Given the description of an element on the screen output the (x, y) to click on. 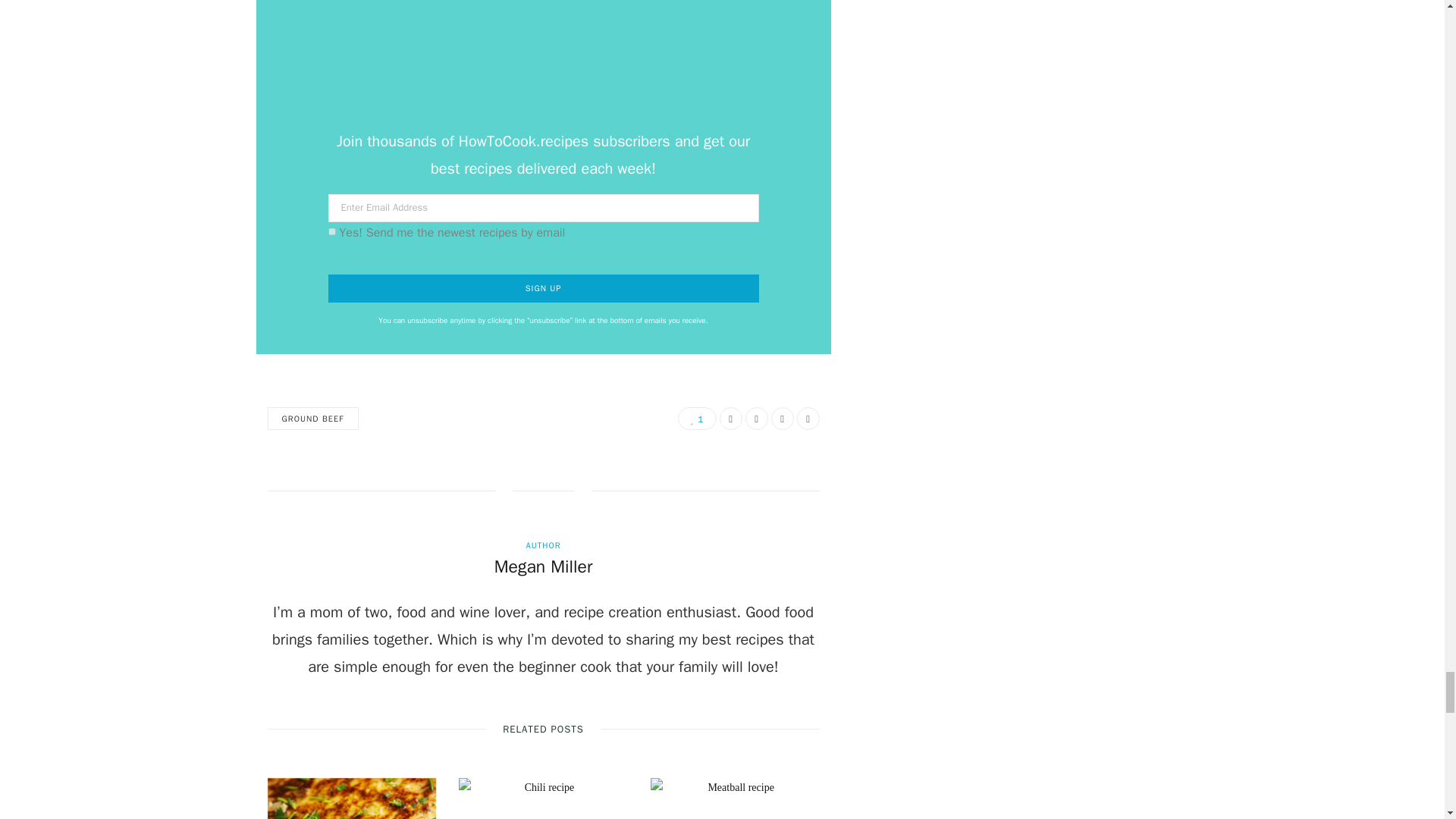
Pinterest (781, 418)
Sign up (542, 288)
Posts by Megan Miller (543, 567)
Share on Facebook (730, 418)
Email (807, 418)
Share on Twitter (755, 418)
